Given the description of an element on the screen output the (x, y) to click on. 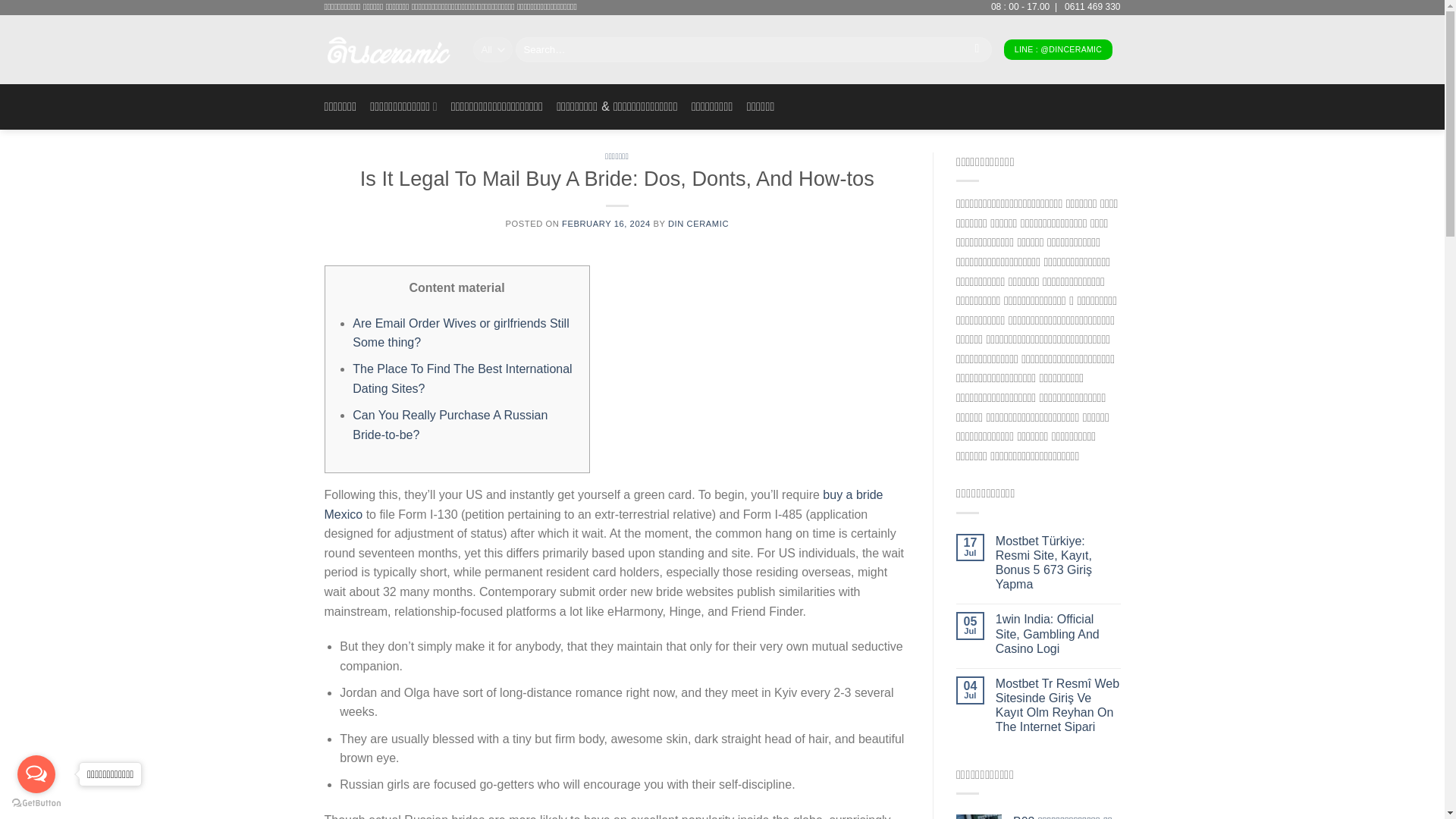
buy a bride Mexico (603, 504)
Are Email Order Wives or girlfriends Still Some thing? (460, 332)
FEBRUARY 16, 2024 (606, 223)
The Place To Find The Best International Dating Sites? (462, 378)
DIN CERAMIC (698, 223)
1win India: Official Site, Gambling And Casino Logi (1058, 633)
Search (976, 49)
Can You Really Purchase A Russian Bride-to-be? (449, 424)
